Given the description of an element on the screen output the (x, y) to click on. 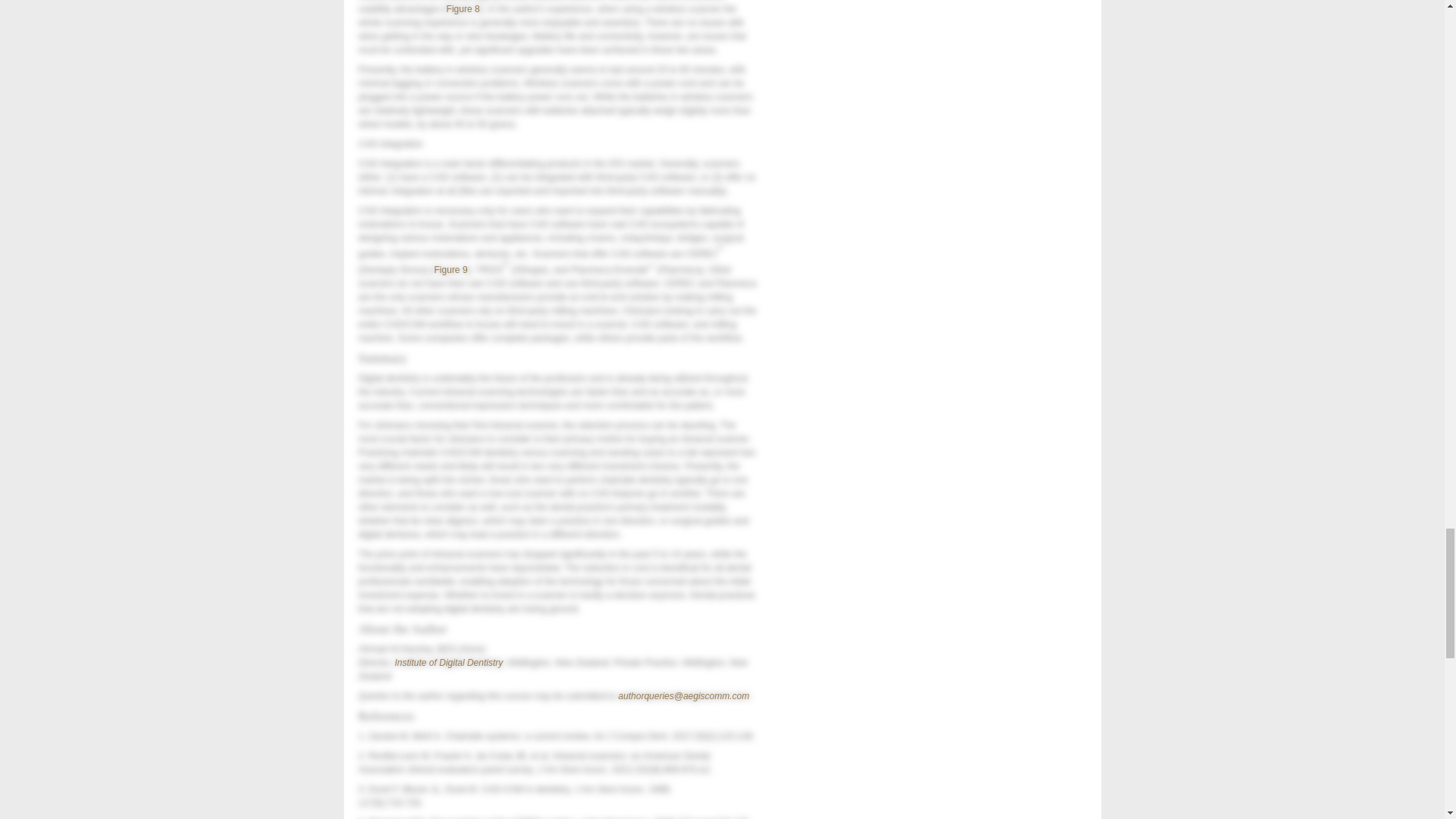
Figure 8 (463, 9)
Figure 9 (450, 269)
Institute of Digital Dentistry (448, 662)
